Given the description of an element on the screen output the (x, y) to click on. 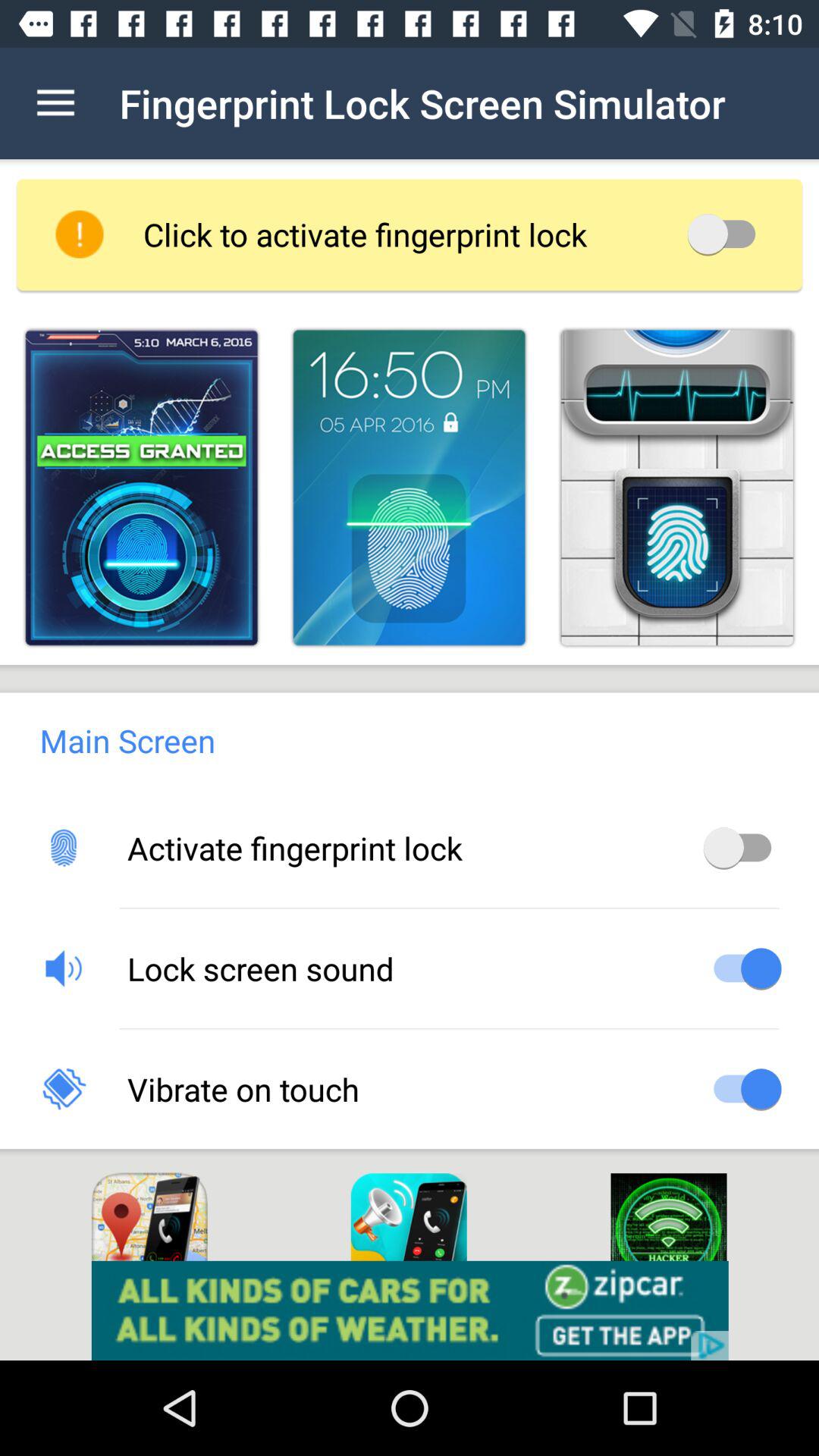
advertisement (409, 1310)
